Given the description of an element on the screen output the (x, y) to click on. 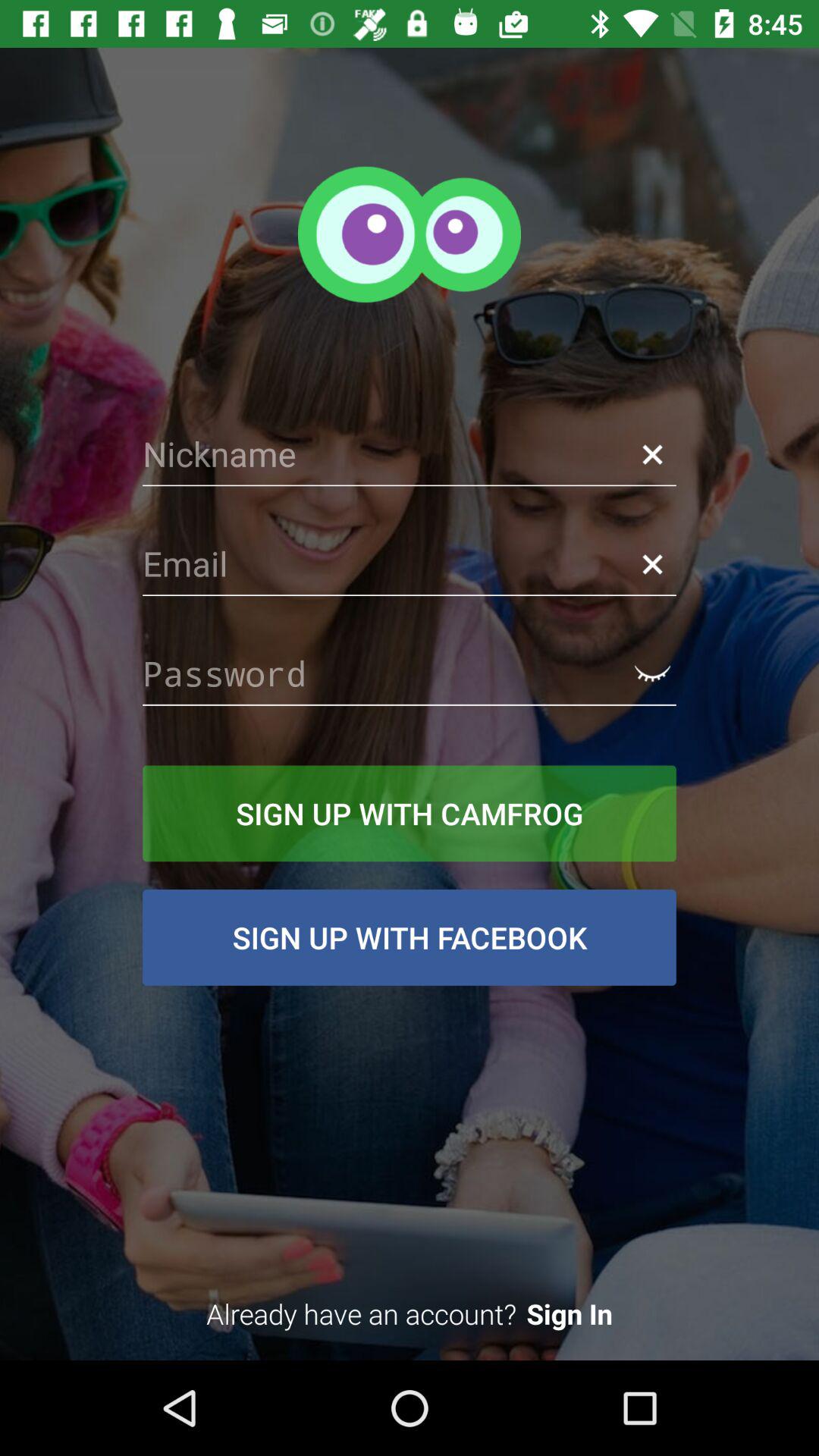
nickname (409, 454)
